Given the description of an element on the screen output the (x, y) to click on. 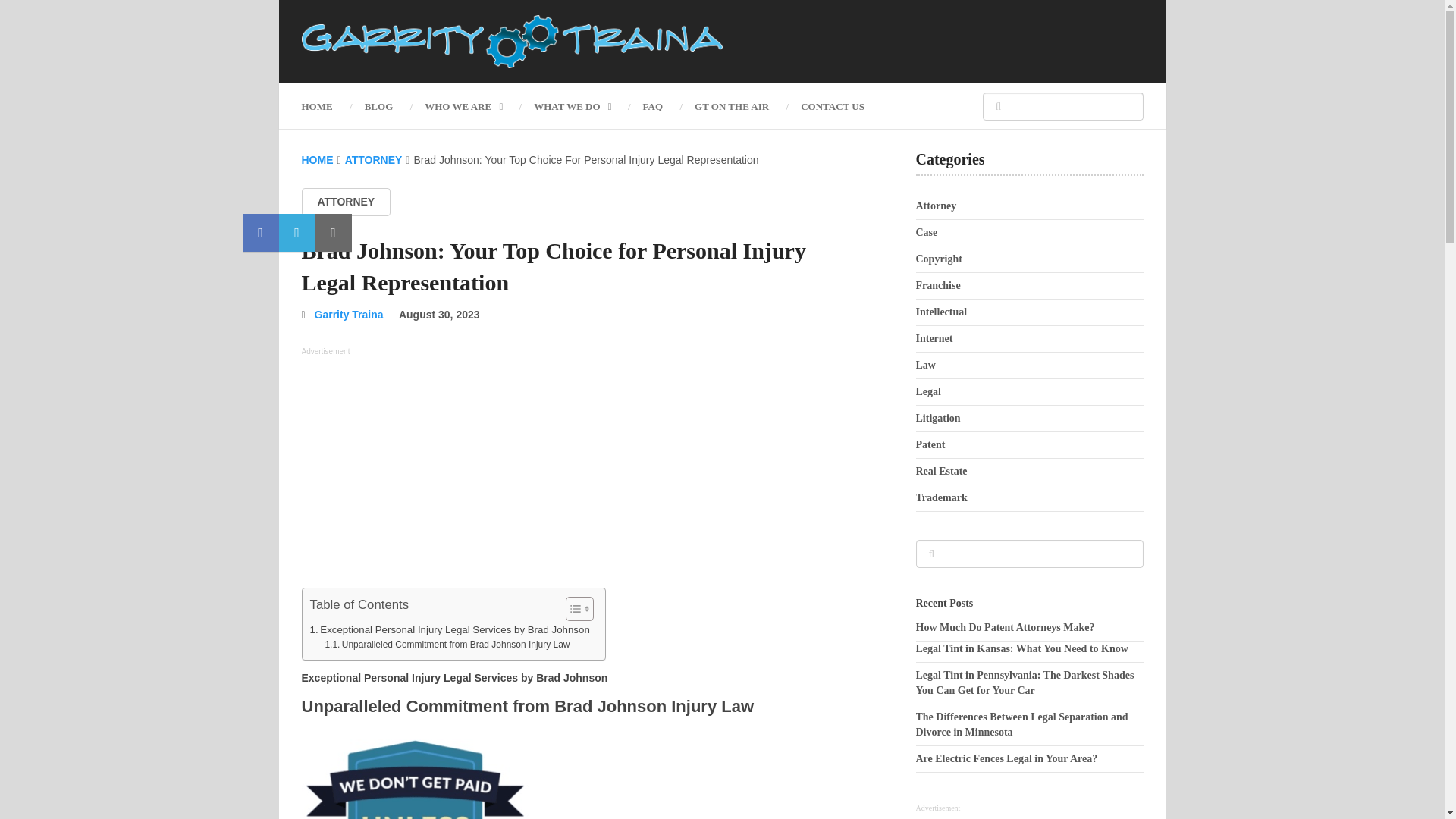
HOME (317, 159)
Garrity Traina (349, 314)
WHAT WE DO (572, 105)
WHO WE ARE (463, 105)
Exceptional Personal Injury Legal Services by Brad Johnson (448, 629)
Posts by Garrity Traina (349, 314)
View all posts in Attorney (346, 202)
FAQ (652, 105)
ATTORNEY (346, 202)
ATTORNEY (374, 159)
